Given the description of an element on the screen output the (x, y) to click on. 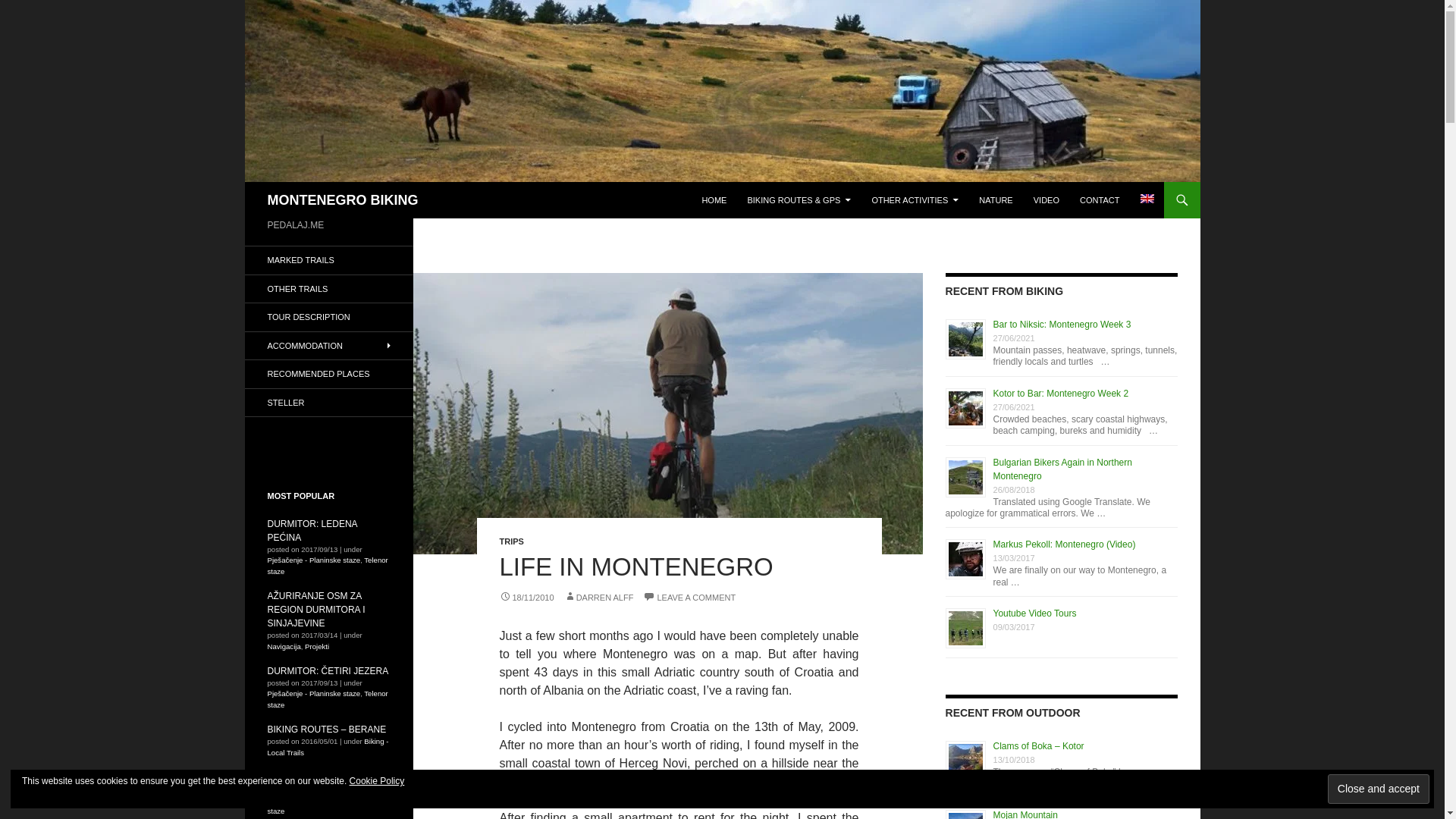
HOME (714, 199)
MONTENEGRO BIKING (341, 199)
English (1147, 198)
OTHER ACTIVITIES (914, 199)
Close and accept (1378, 788)
